Given the description of an element on the screen output the (x, y) to click on. 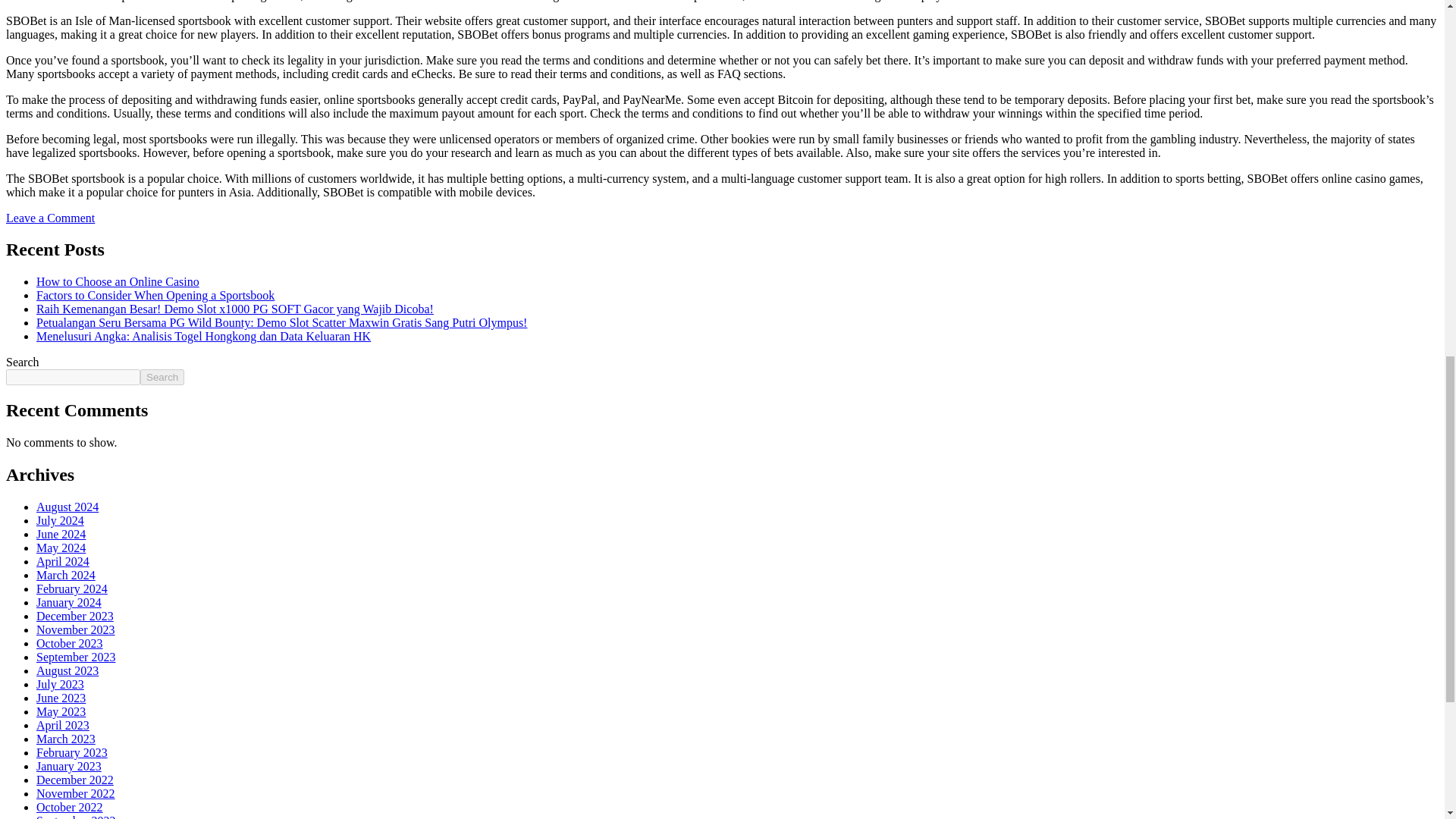
July 2024 (60, 520)
Leave a Comment (49, 217)
How to Choose an Online Casino (117, 281)
Factors to Consider When Opening a Sportsbook (155, 295)
August 2024 (67, 506)
Search (161, 376)
